Given the description of an element on the screen output the (x, y) to click on. 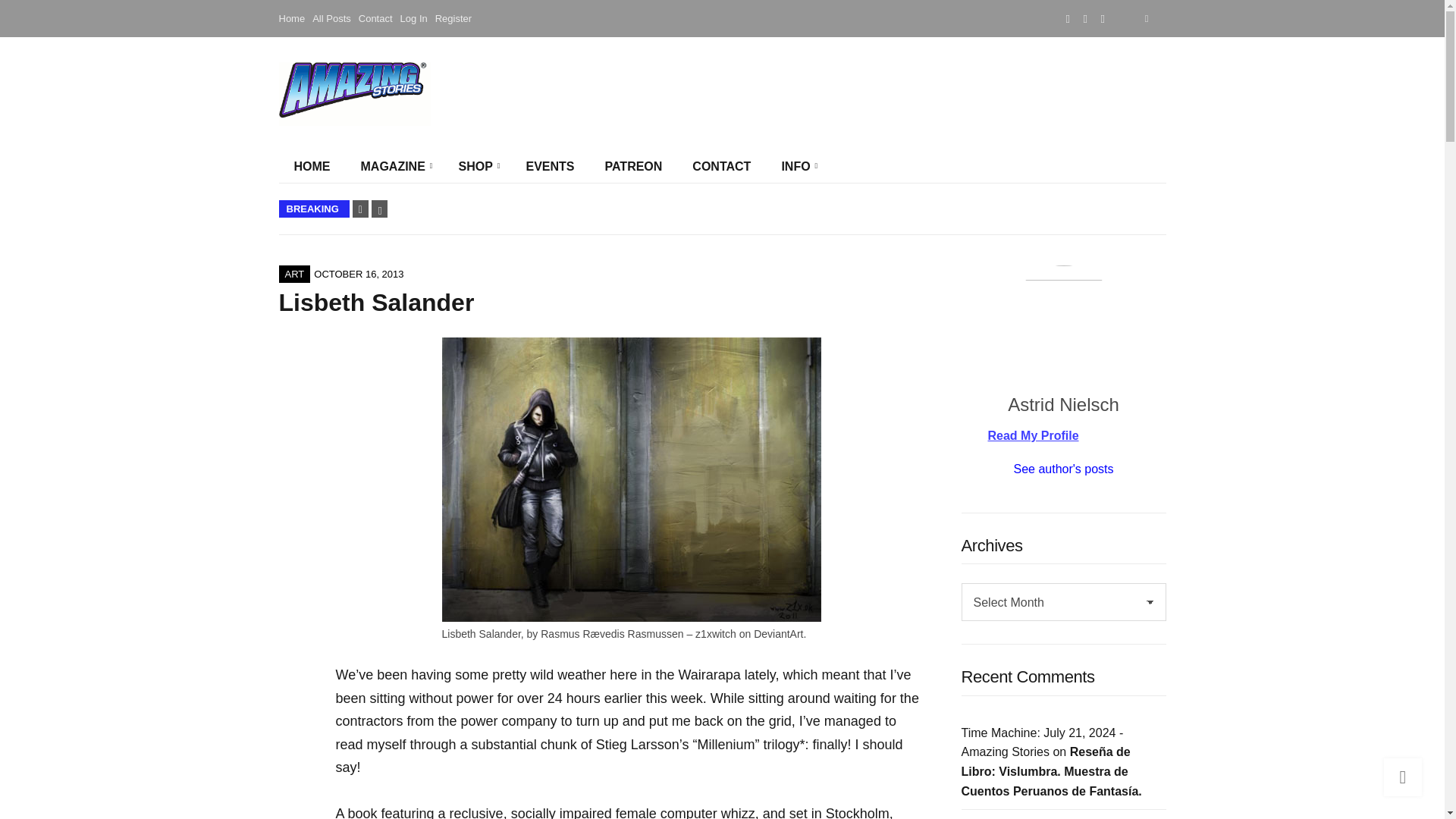
HOME (312, 166)
Facebook (1068, 18)
INFO (796, 166)
EVENTS (550, 166)
All Posts (331, 18)
SHOP (476, 166)
Home (292, 18)
Log In (414, 18)
RSS (1102, 18)
CONTACT (721, 166)
Twitter (1085, 18)
Register (453, 18)
Expand search form (1146, 18)
Contact (375, 18)
MAGAZINE (395, 166)
